Given the description of an element on the screen output the (x, y) to click on. 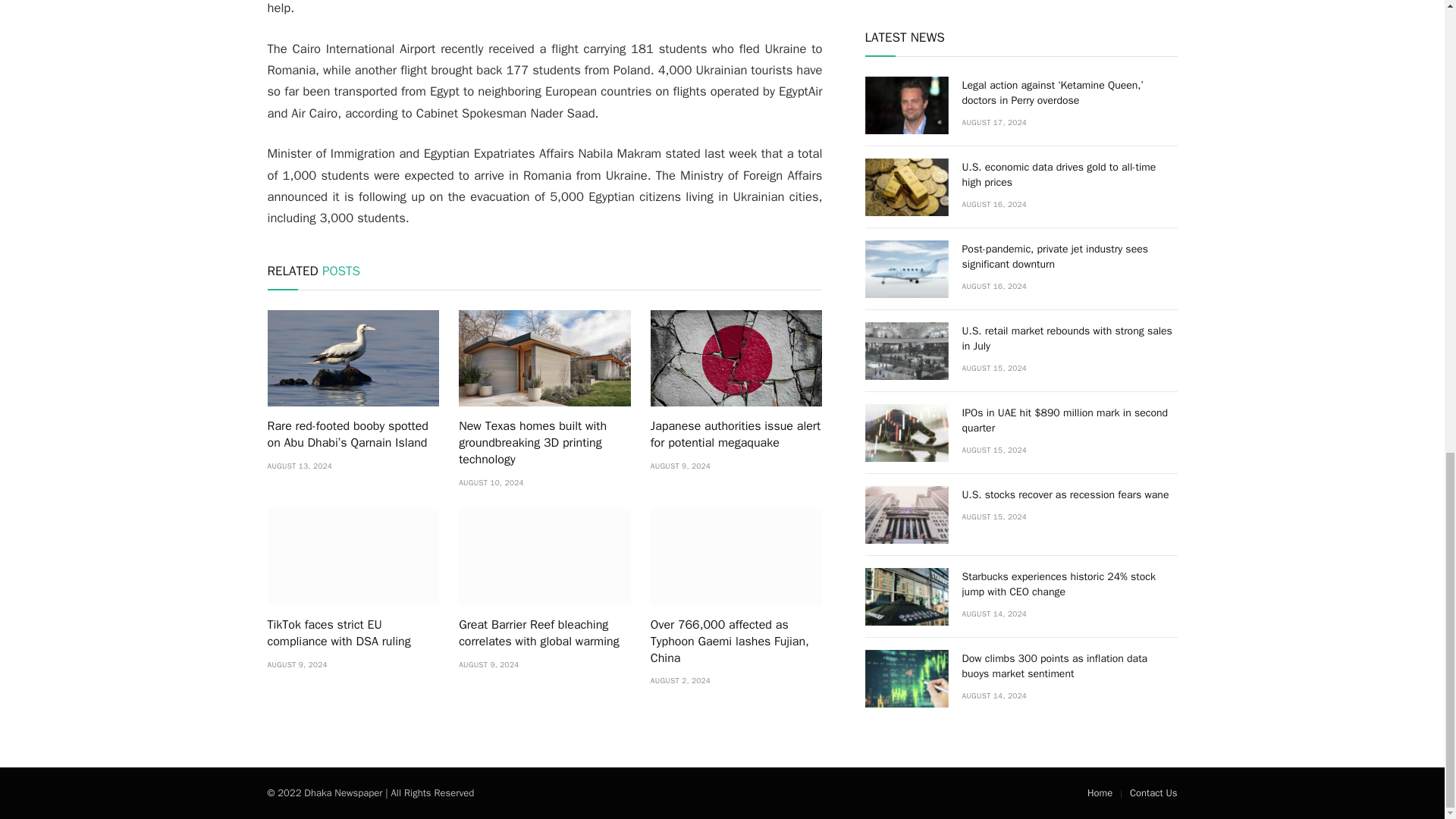
TikTok faces strict EU compliance with DSA ruling (352, 633)
Japanese authorities issue alert for potential megaquake (736, 435)
